Given the description of an element on the screen output the (x, y) to click on. 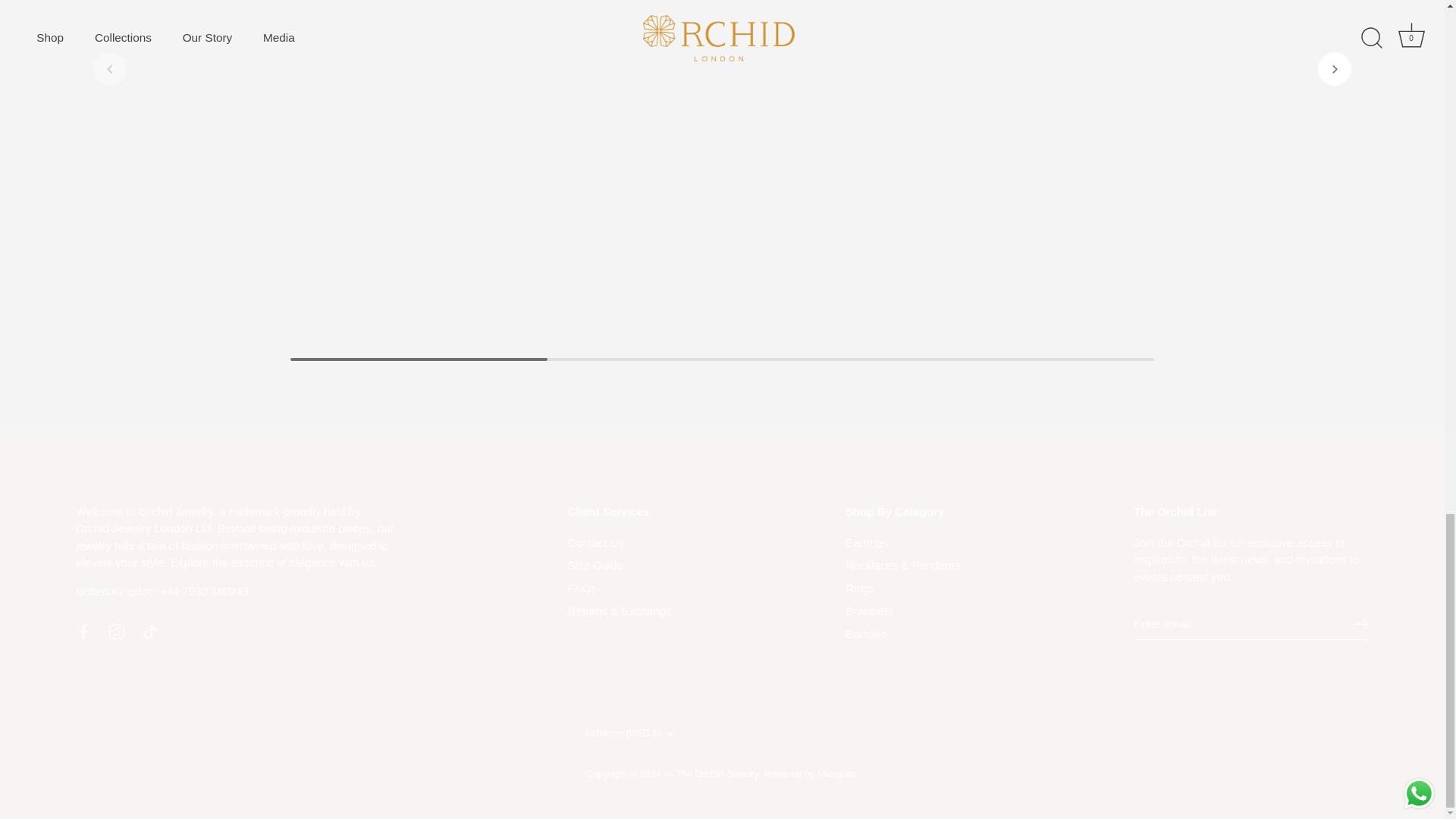
RIGHT ARROW LONG (1361, 623)
Instagram (116, 631)
